Given the description of an element on the screen output the (x, y) to click on. 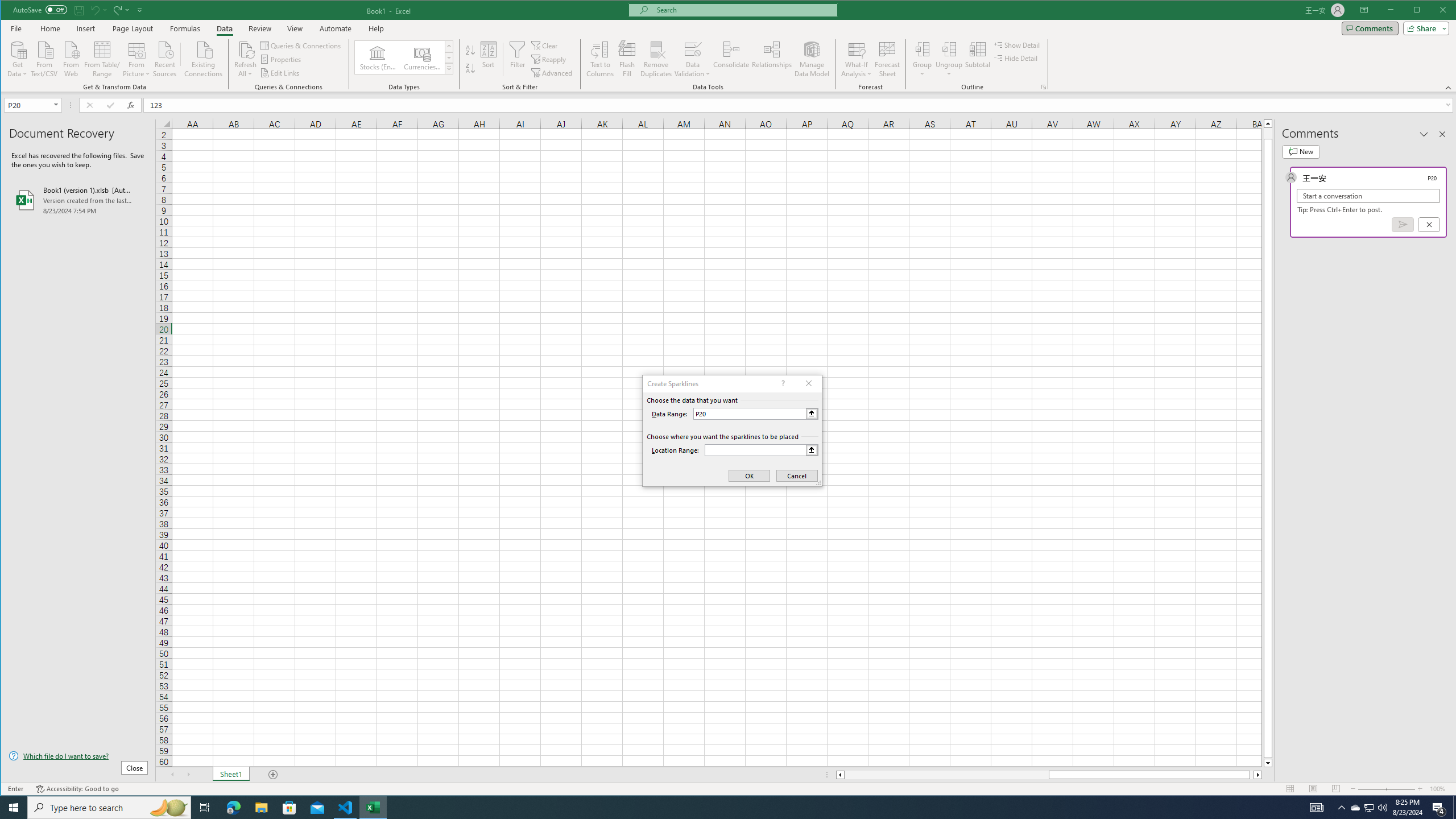
Start a conversation (1368, 195)
Sort Smallest to Largest (470, 49)
Sort Largest to Smallest (470, 68)
